Given the description of an element on the screen output the (x, y) to click on. 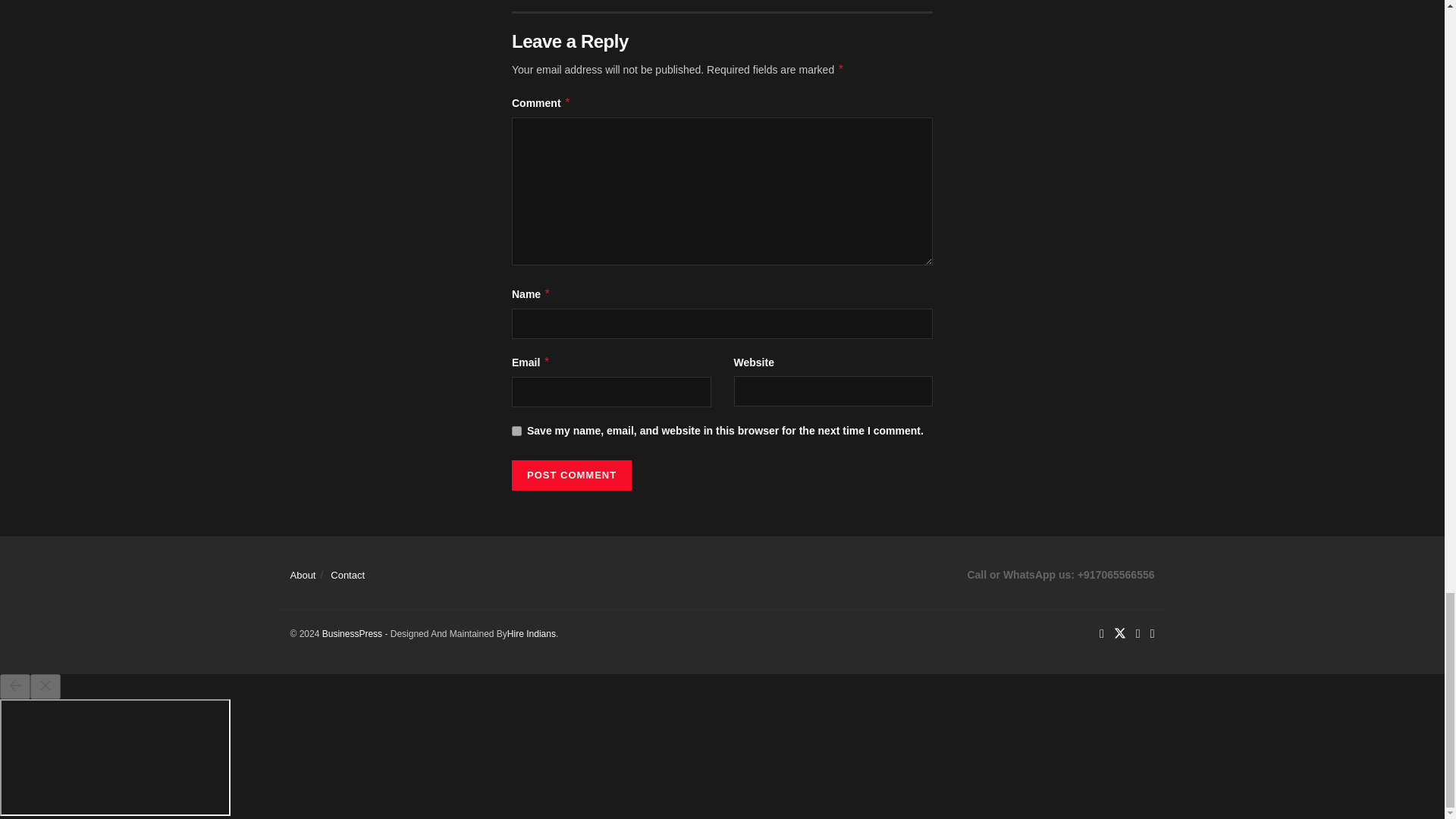
Hire Indians (531, 633)
Designed and Maintained by (351, 633)
yes (516, 430)
Post Comment (571, 475)
